Given the description of an element on the screen output the (x, y) to click on. 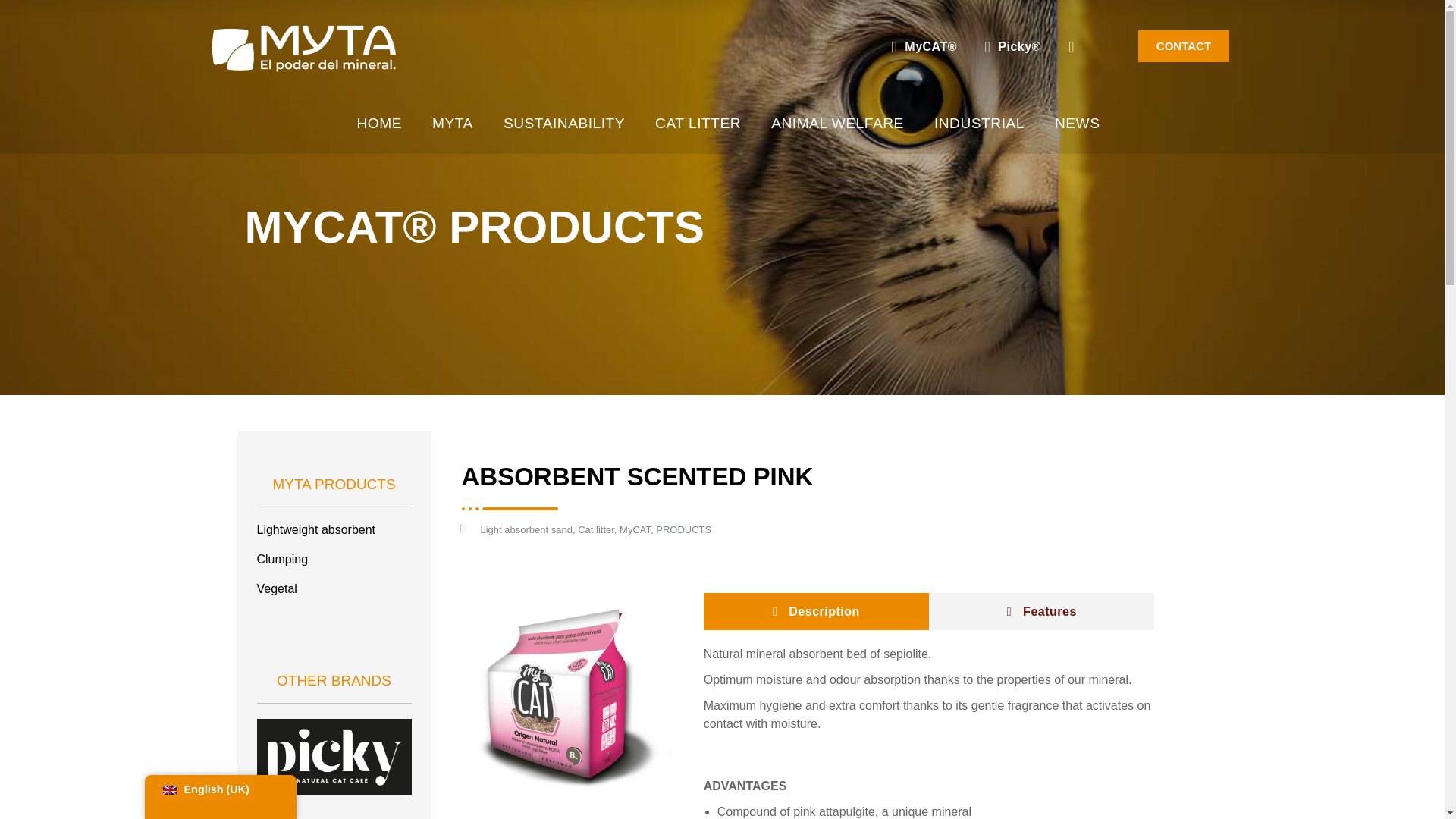
SUSTAINABILITY (563, 122)
HOME (378, 122)
Cat litter (596, 529)
MyCAT (635, 529)
CAT LITTER (697, 122)
CONTACT (1183, 46)
Light absorbent sand (526, 529)
PRODUCTS (683, 529)
NEWS (1077, 122)
Vegetal (333, 588)
